Given the description of an element on the screen output the (x, y) to click on. 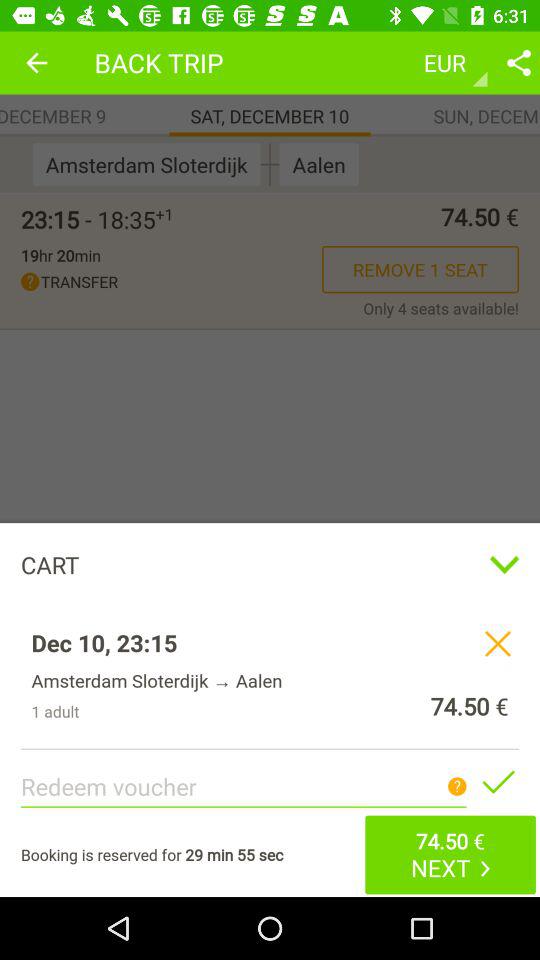
choose item next to back trip item (36, 62)
